Given the description of an element on the screen output the (x, y) to click on. 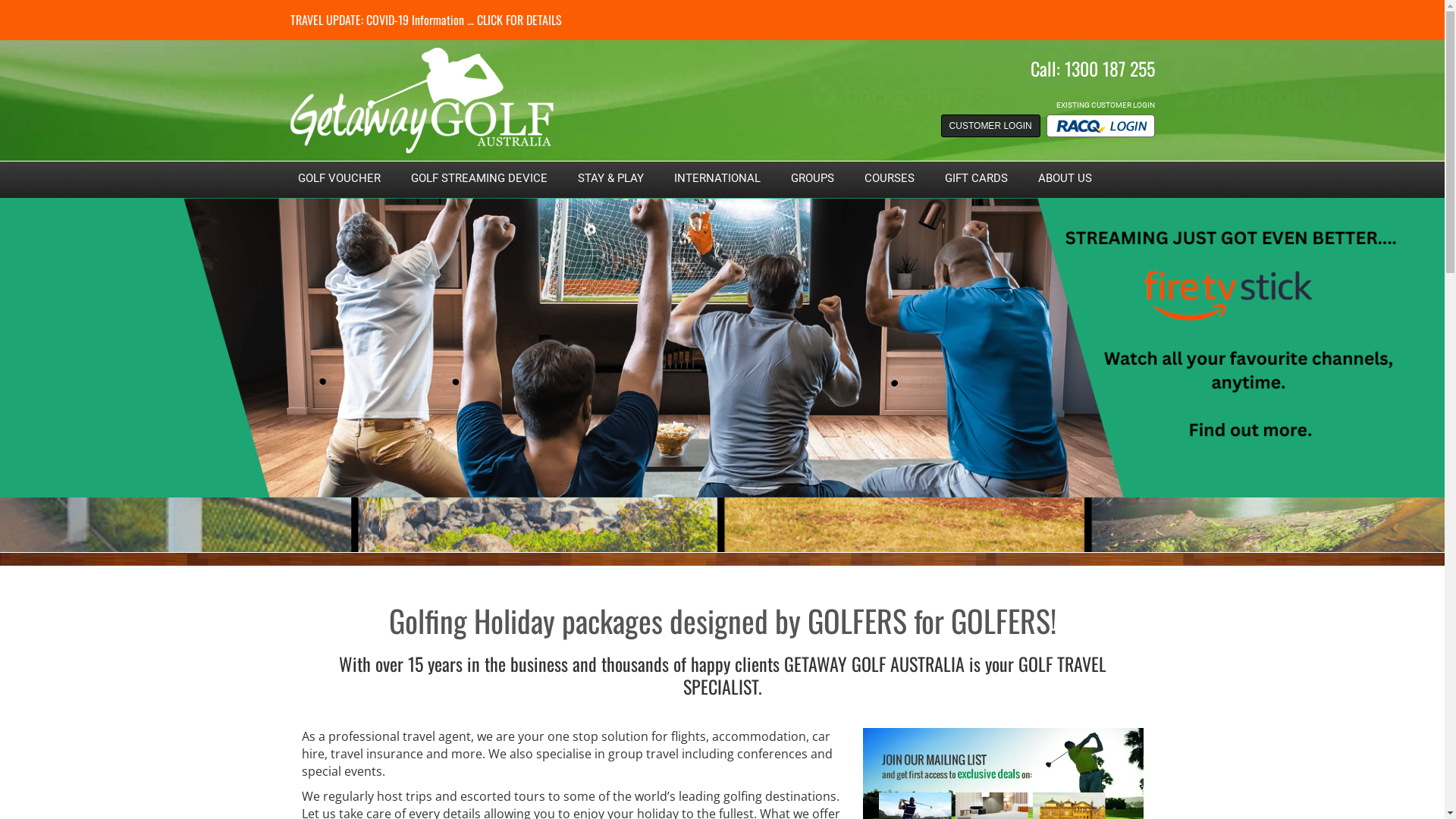
GOLF STREAMING DEVICE Element type: text (479, 178)
ABOUT US Element type: text (1064, 178)
TRAVEL UPDATE: COVID-19 Information ... CLICK FOR DETAILS Element type: text (425, 19)
1300 187 255 Element type: text (1109, 67)
CUSTOMER LOGIN Element type: text (990, 125)
GOLF VOUCHER Element type: text (338, 178)
GROUPS Element type: text (811, 178)
COURSES Element type: text (889, 178)
GIFT CARDS Element type: text (975, 178)
STAY & PLAY Element type: text (610, 178)
INTERNATIONAL Element type: text (716, 178)
